Given the description of an element on the screen output the (x, y) to click on. 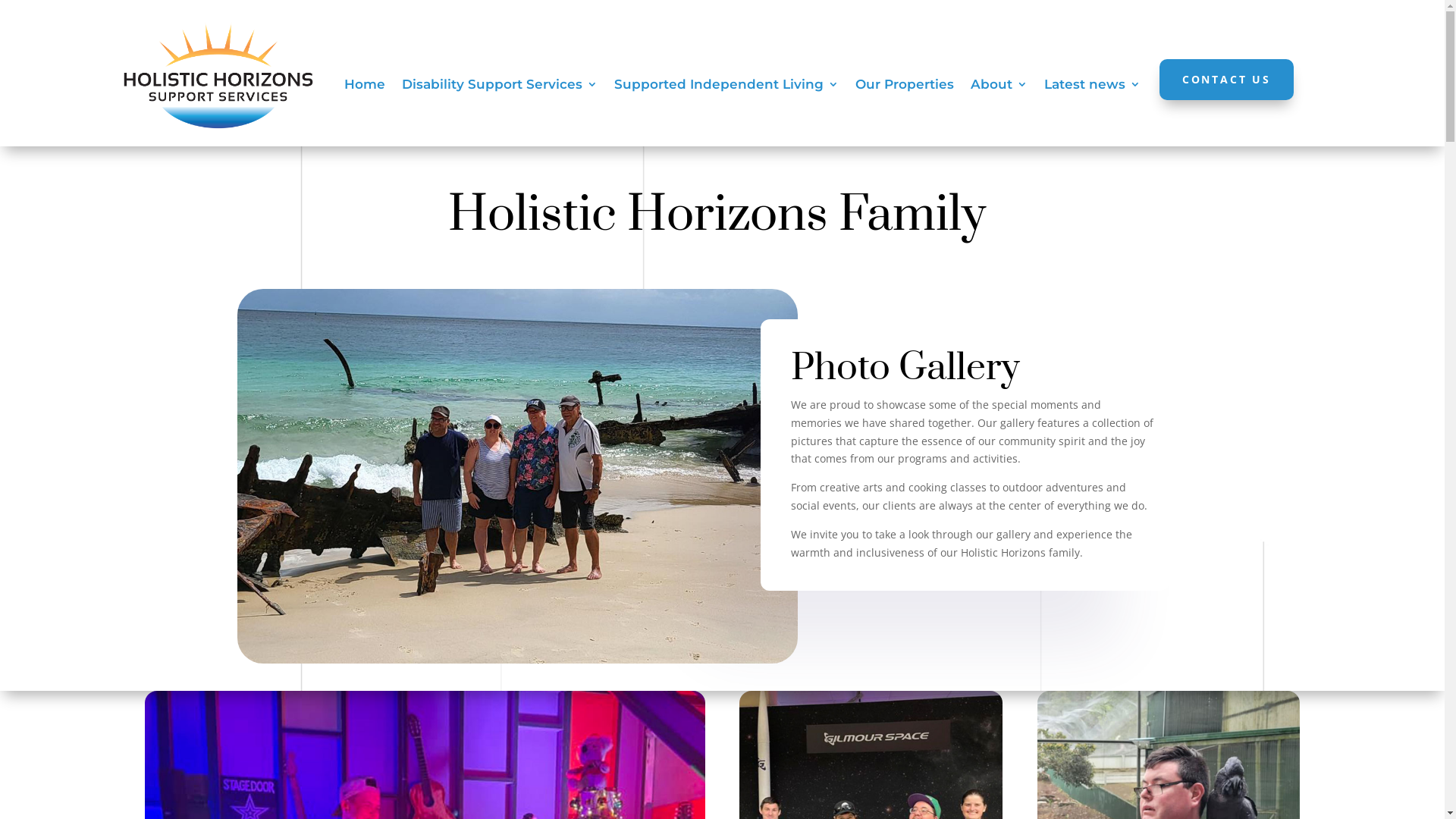
Supported Independent Living Element type: text (726, 86)
Our Properties Element type: text (904, 86)
About Element type: text (998, 86)
Latest news Element type: text (1092, 86)
CONTACT US Element type: text (1226, 79)
Disability Support Services Element type: text (499, 86)
moreton Island Element type: hover (516, 475)
Home Element type: text (364, 86)
HHSS Logo 2021 Element type: hover (218, 74)
